Given the description of an element on the screen output the (x, y) to click on. 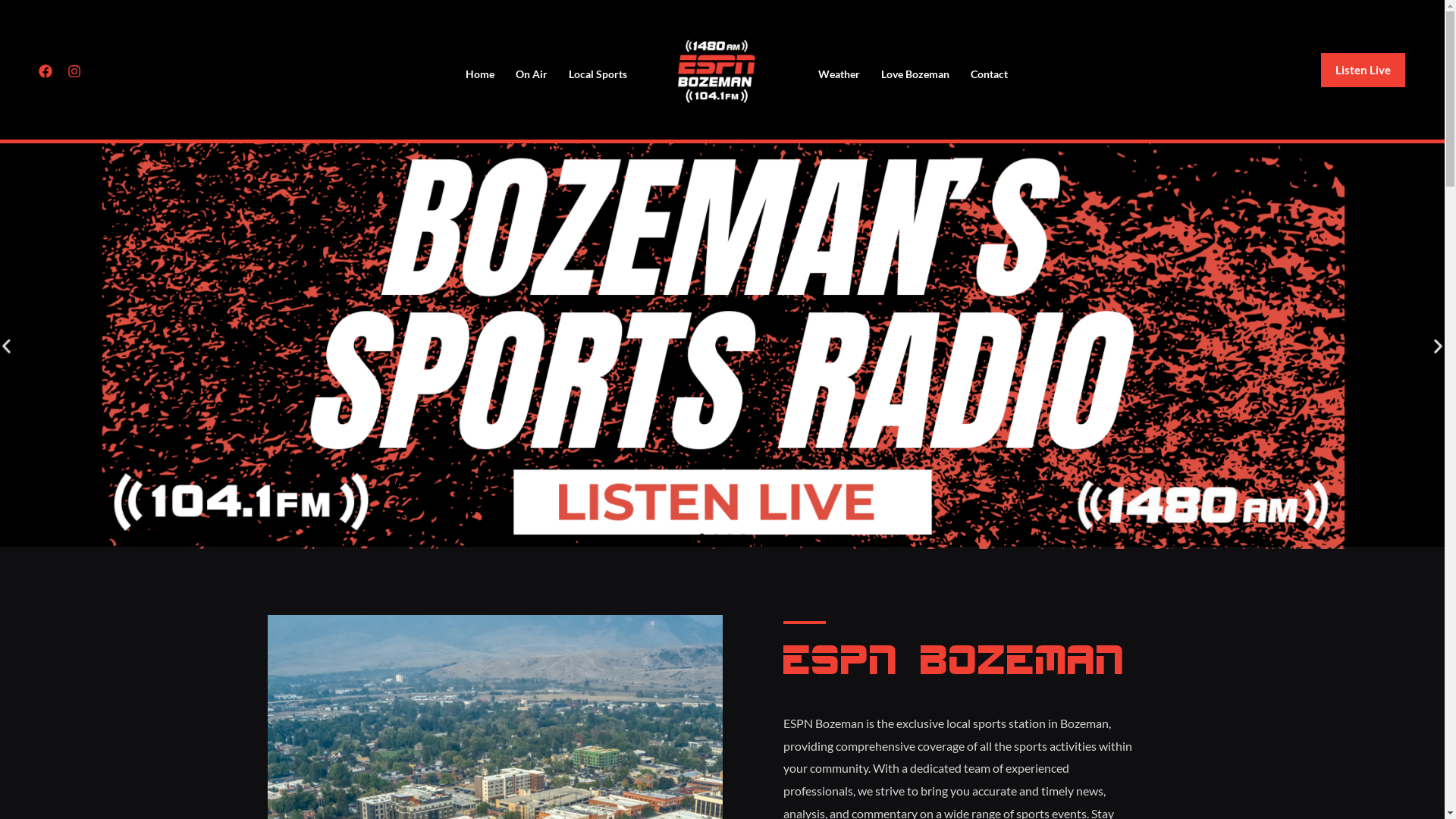
Local Sports Element type: text (597, 74)
Listen Live Element type: text (1362, 68)
On Air Element type: text (531, 74)
Contact Element type: text (989, 74)
Love Bozeman Element type: text (915, 74)
Listen Live Element type: text (1362, 69)
Home Element type: text (480, 74)
Weather Element type: text (837, 74)
